Given the description of an element on the screen output the (x, y) to click on. 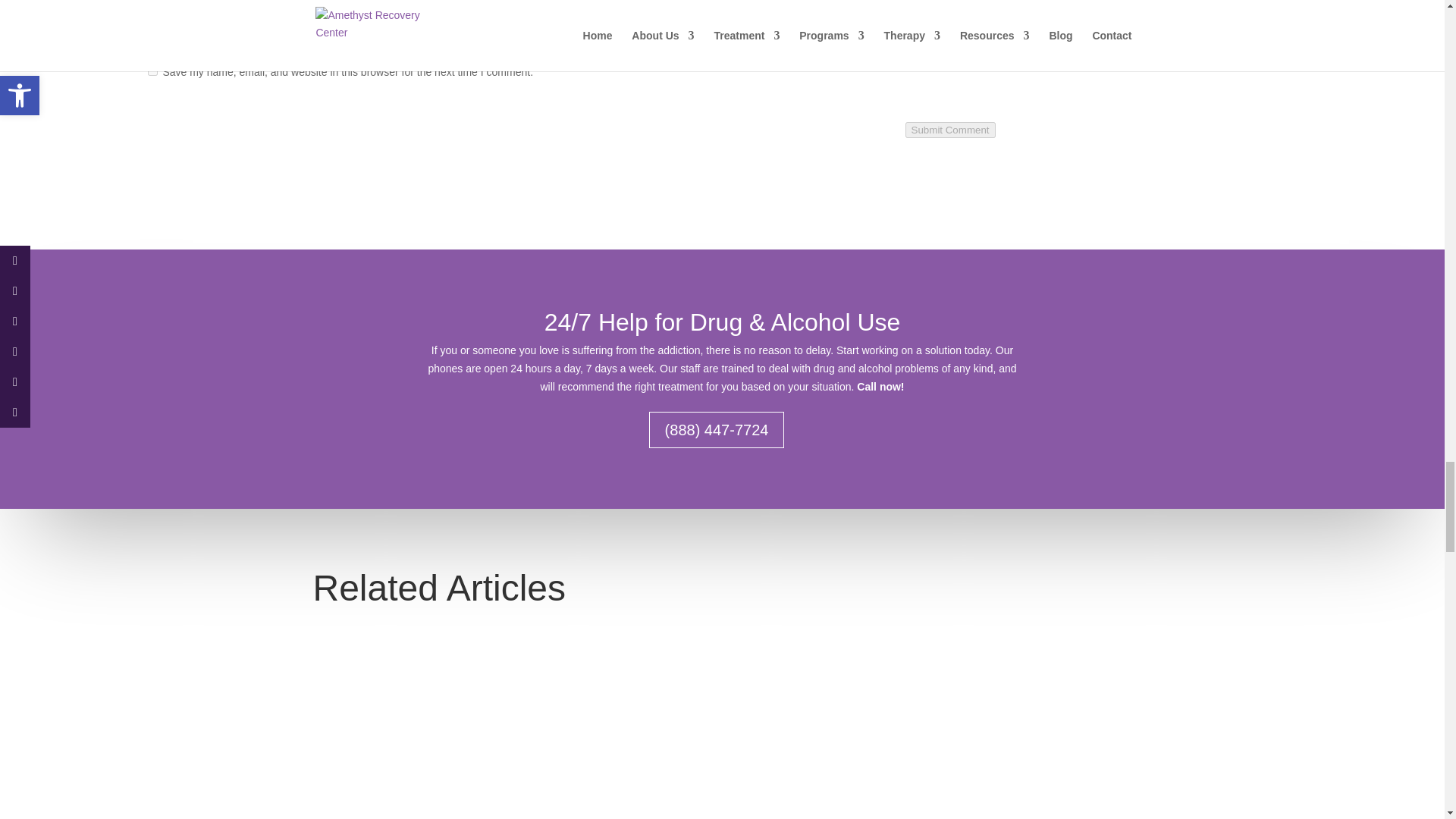
yes (152, 71)
